Given the description of an element on the screen output the (x, y) to click on. 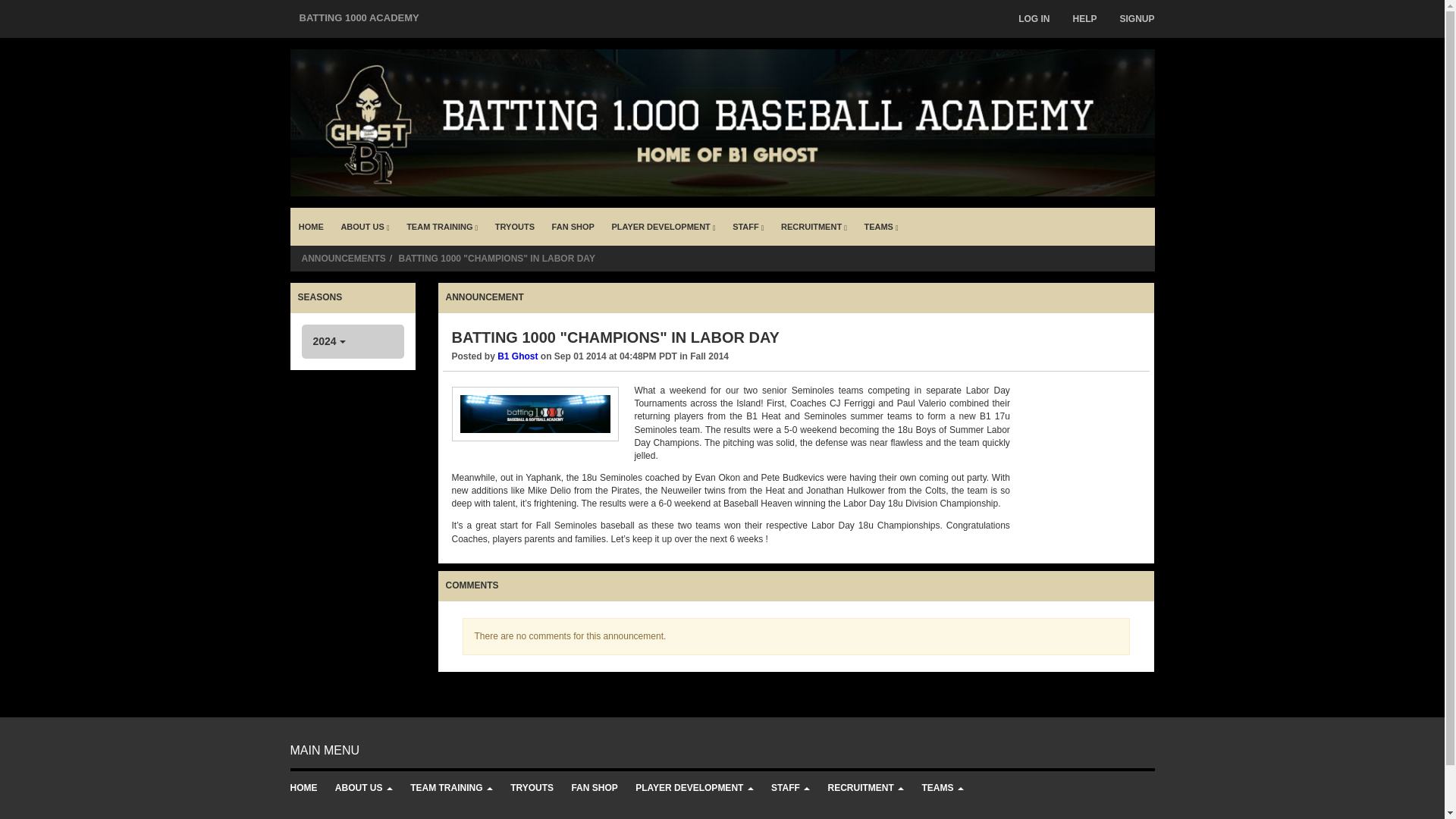
SIGNUP (1137, 18)
RECRUITMENT (814, 226)
ABOUT US (364, 226)
HOME (310, 226)
PLAYER DEVELOPMENT (662, 226)
HELP (1084, 18)
LOG IN (1034, 18)
TEAM TRAINING (441, 226)
TRYOUTS (514, 226)
FAN SHOP (572, 226)
BATTING 1000 ACADEMY (358, 17)
STAFF (748, 226)
